Given the description of an element on the screen output the (x, y) to click on. 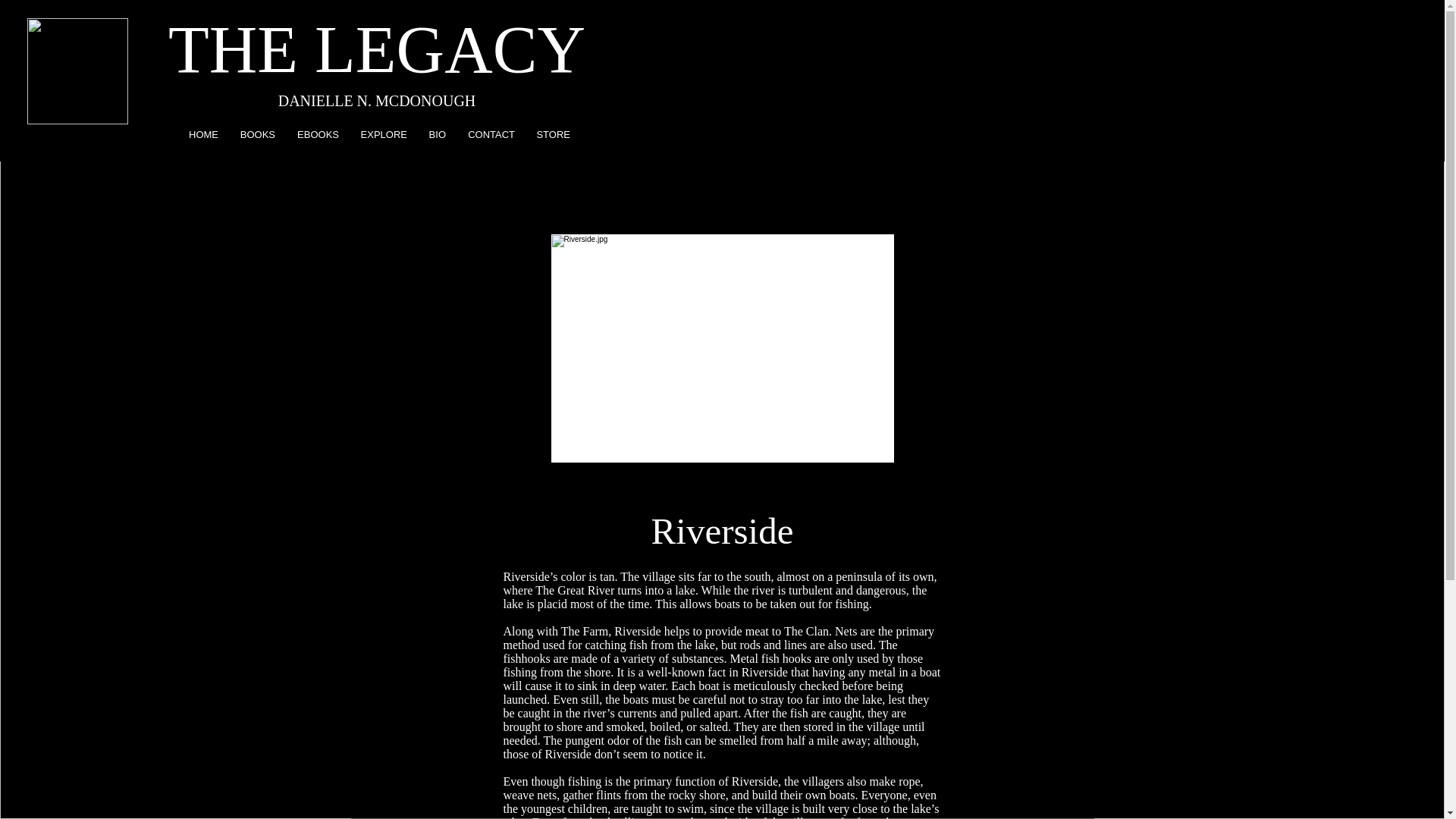
STORE (550, 134)
BOOKS (255, 134)
EXPLORE (380, 134)
CONTACT (488, 134)
THE LEGACY (376, 49)
BIO (434, 134)
EBOOKS (315, 134)
HOME (200, 134)
